Given the description of an element on the screen output the (x, y) to click on. 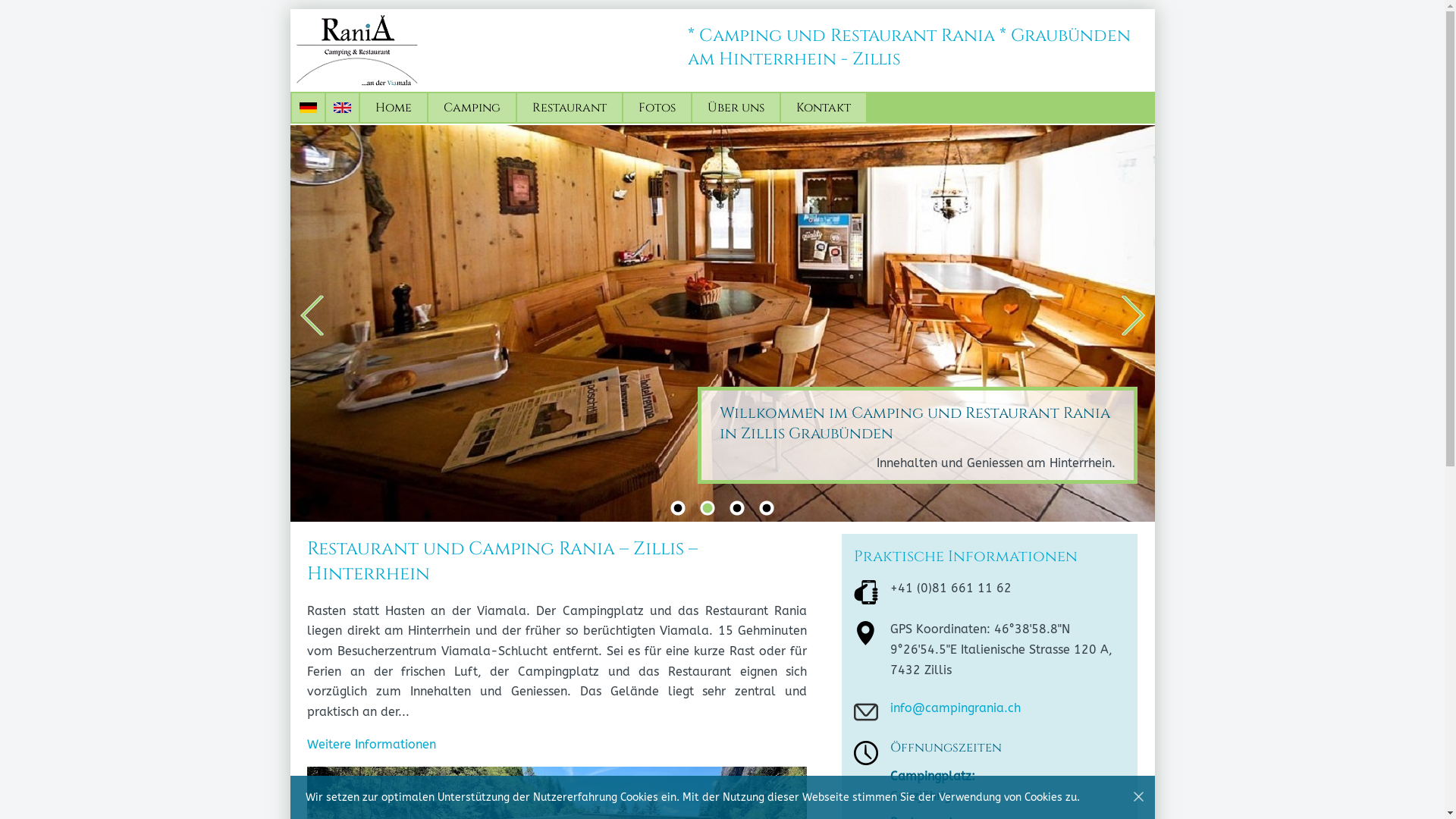
Kontakt Element type: text (823, 107)
Restaurant Element type: text (569, 107)
Deutsch Element type: hover (307, 107)
Englisch Element type: hover (342, 107)
Fotos Element type: text (656, 107)
Home Element type: text (393, 107)
info@campingrania.ch Element type: text (955, 707)
Weitere Informationen Element type: text (371, 744)
Camping Element type: text (471, 107)
